Given the description of an element on the screen output the (x, y) to click on. 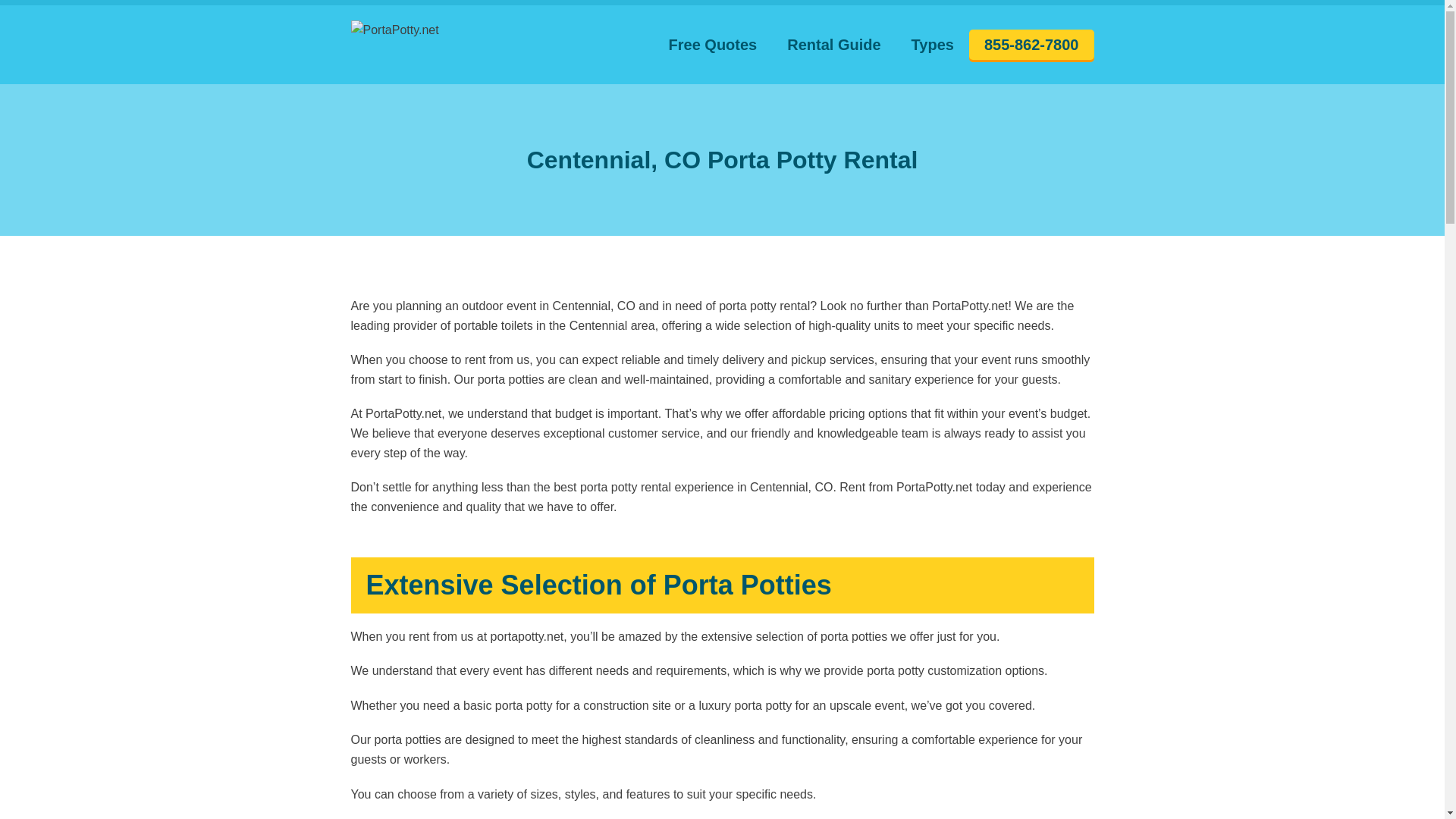
Types (932, 44)
855-862-7800 (1031, 44)
Rental Guide (833, 44)
Free Quotes (713, 44)
